Given the description of an element on the screen output the (x, y) to click on. 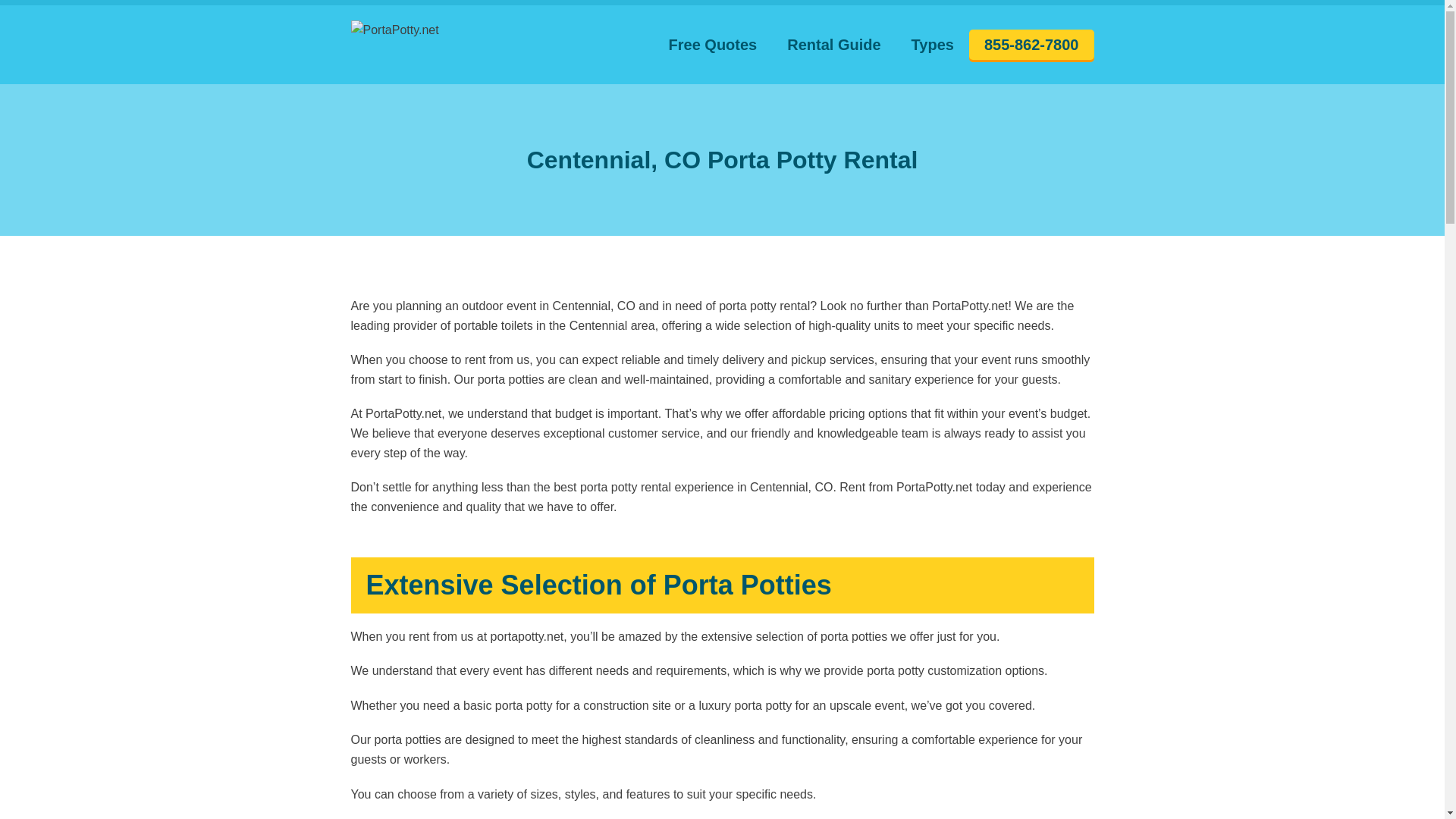
Types (932, 44)
855-862-7800 (1031, 44)
Rental Guide (833, 44)
Free Quotes (713, 44)
